Given the description of an element on the screen output the (x, y) to click on. 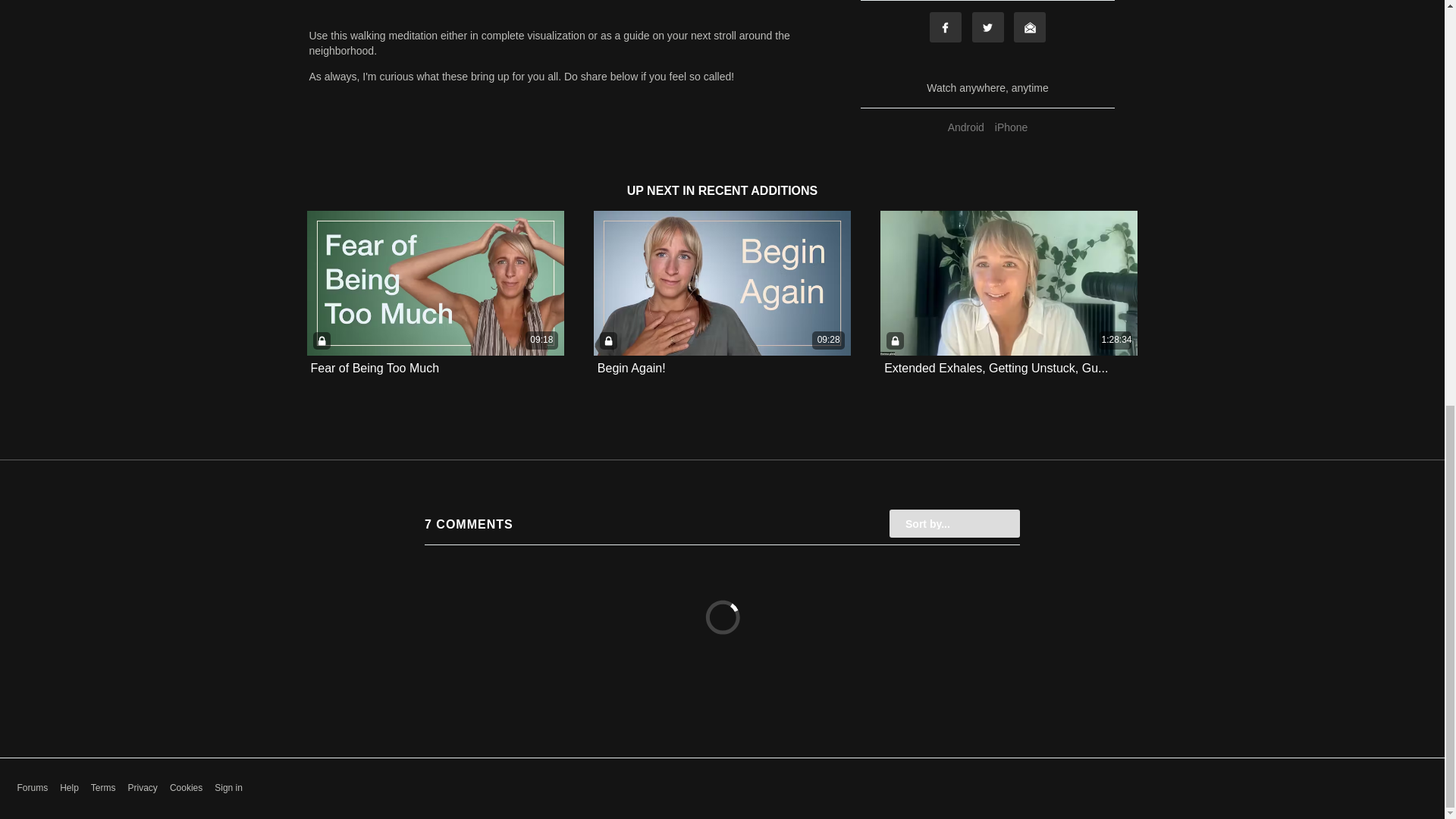
Email (1029, 27)
Forums (32, 788)
Terms (103, 788)
Begin Again! (630, 367)
Privacy (142, 788)
Twitter (988, 27)
Fear of Being Too Much (375, 368)
09:18 (434, 282)
Cookies (186, 788)
RECENT ADDITIONS (758, 190)
iPhone (1011, 127)
Facebook (945, 27)
Sign in (228, 788)
1:28:34 (1008, 282)
Begin Again! (630, 368)
